Given the description of an element on the screen output the (x, y) to click on. 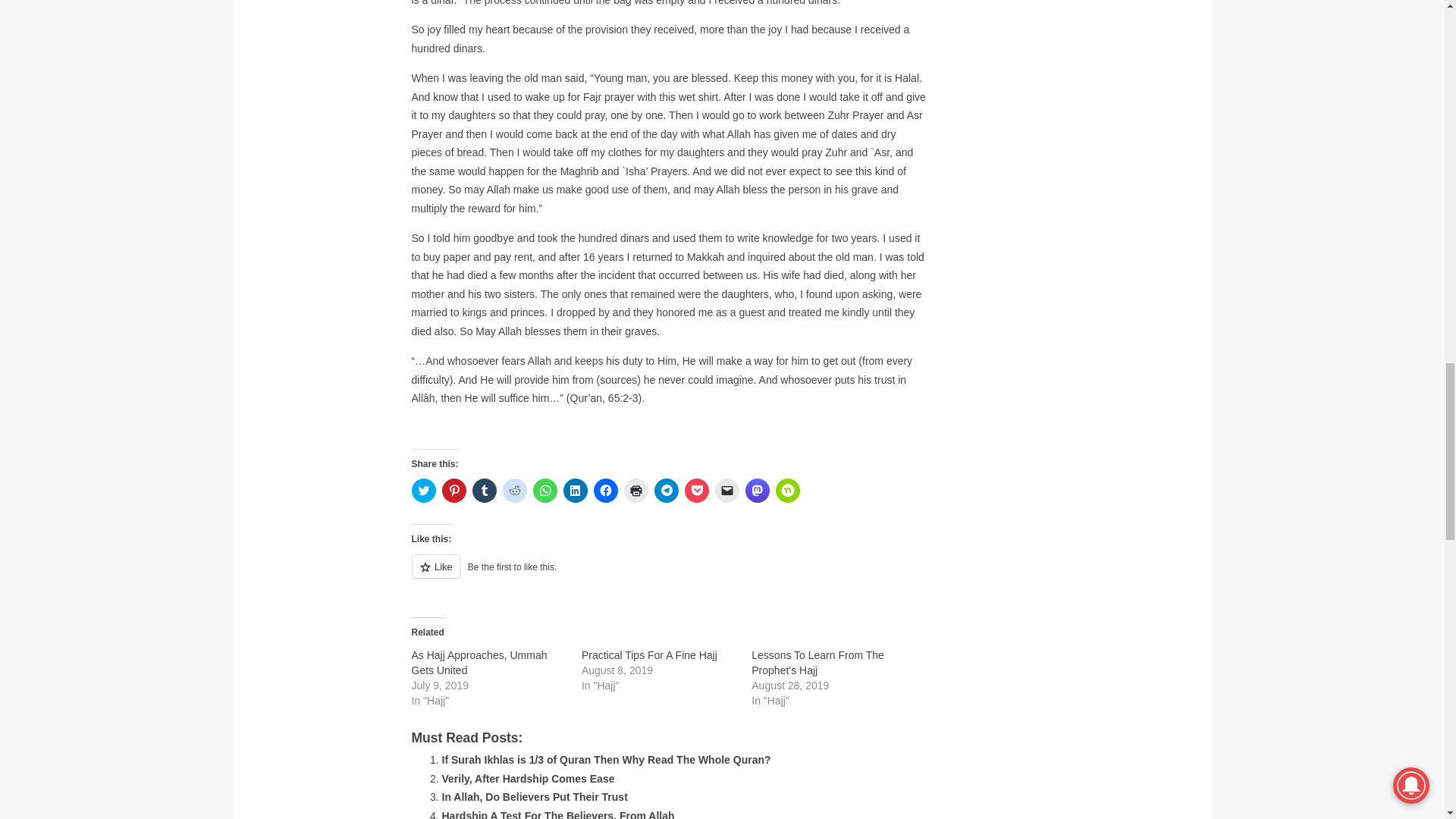
Click to share on Pinterest (453, 490)
Click to share on LinkedIn (574, 490)
Click to share on WhatsApp (544, 490)
Click to print (635, 490)
Click to share on Tumblr (483, 490)
Click to share on Facebook (604, 490)
Click to share on Twitter (422, 490)
Click to share on Telegram (665, 490)
Click to share on Reddit (513, 490)
